Given the description of an element on the screen output the (x, y) to click on. 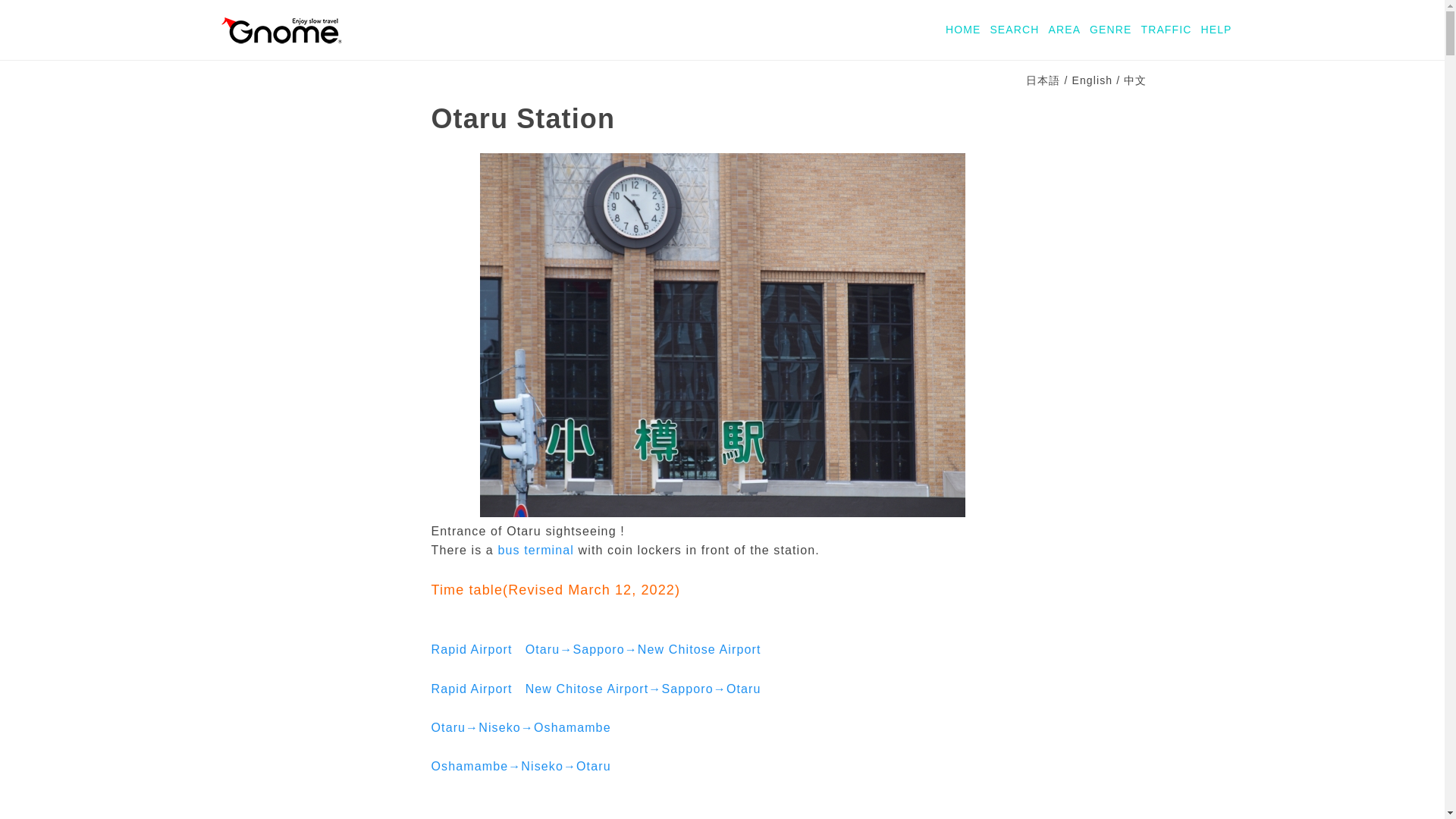
HOME (961, 29)
English (1091, 80)
bus terminal (535, 549)
SEARCH (1014, 29)
TRAFFIC (1165, 29)
AREA (1064, 29)
GENRE (1110, 29)
HELP (1215, 29)
